Given the description of an element on the screen output the (x, y) to click on. 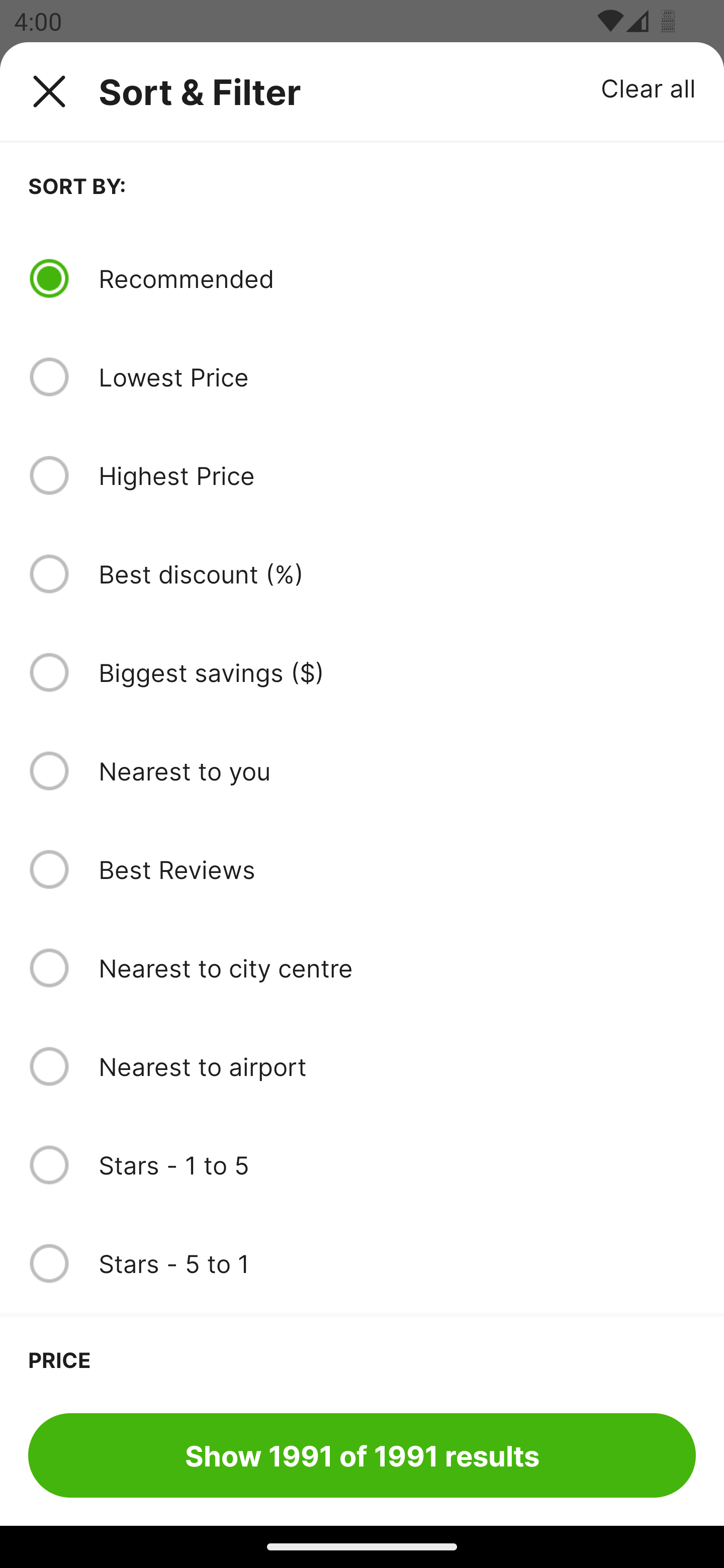
Clear all (648, 87)
Recommended  (396, 278)
Lowest Price (396, 377)
Highest Price (396, 474)
Best discount (%) (396, 573)
Biggest savings ($) (396, 672)
Nearest to you (396, 770)
Best Reviews (396, 869)
Nearest to city centre (396, 968)
Nearest to airport (396, 1065)
Stars - 1 to 5 (396, 1164)
Stars - 5 to 1 (396, 1263)
Show 1991 of 1991 results (361, 1454)
